Given the description of an element on the screen output the (x, y) to click on. 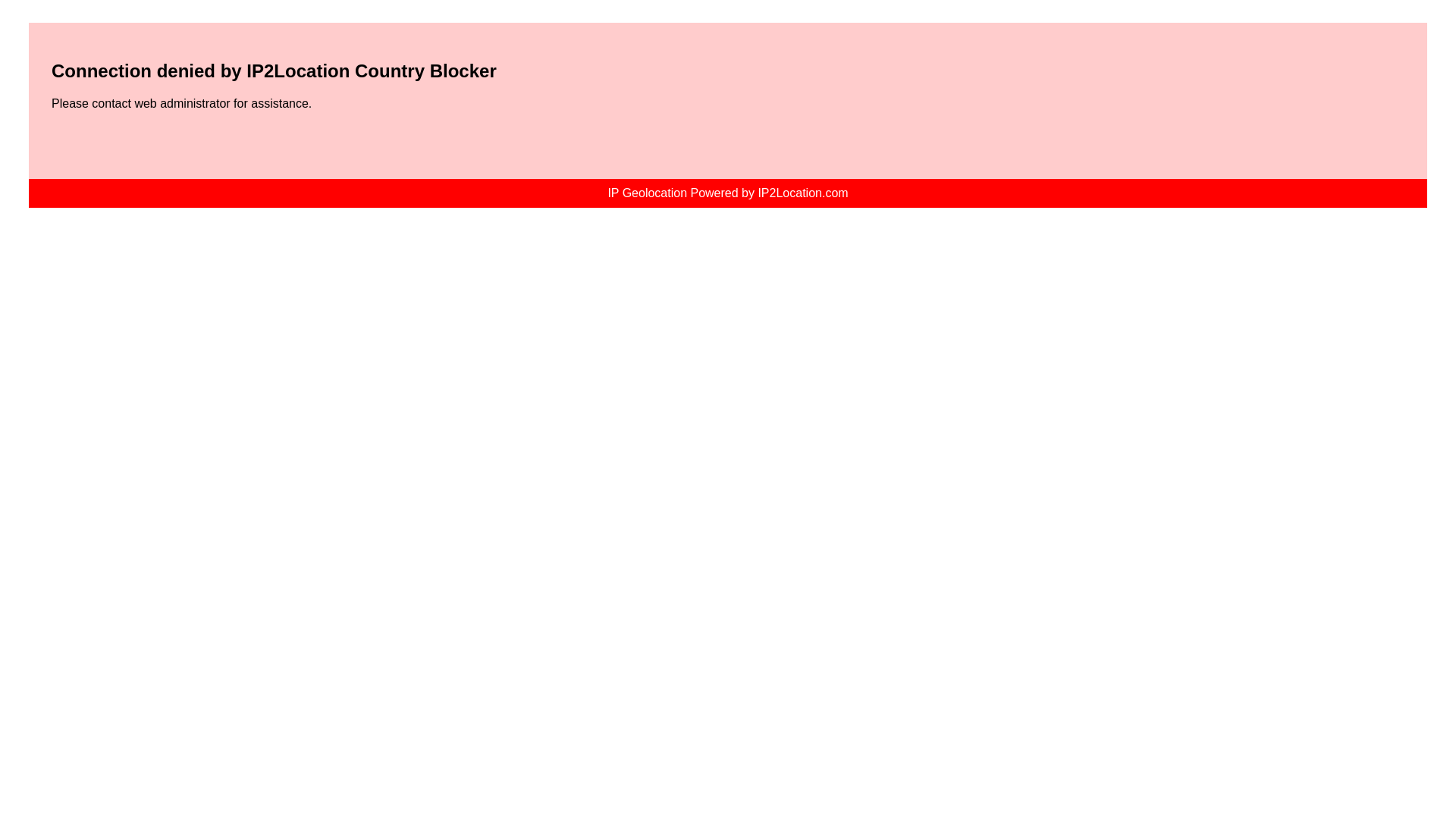
IP Geolocation Powered by IP2Location.com (727, 192)
